Given the description of an element on the screen output the (x, y) to click on. 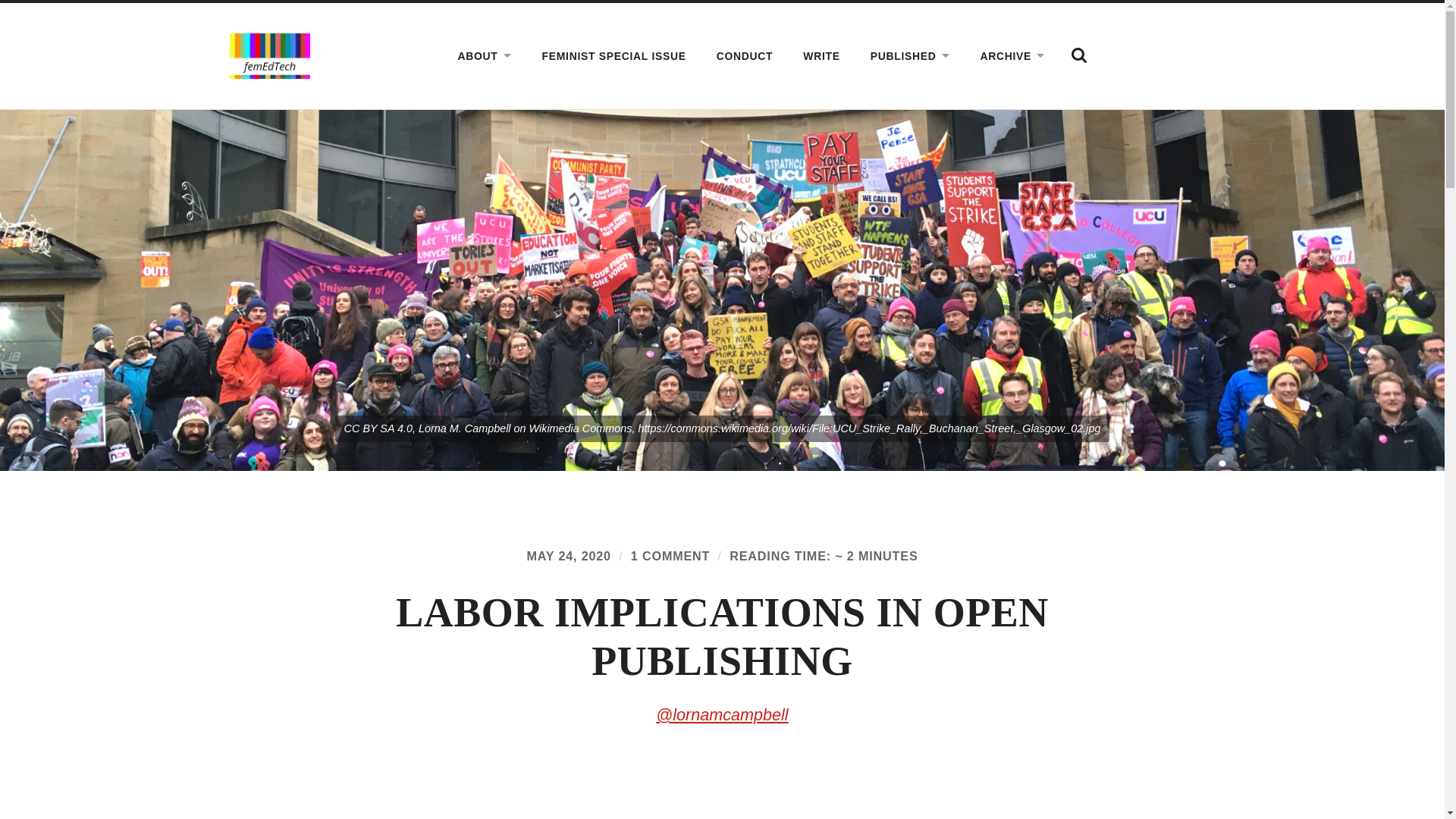
WRITE (821, 56)
1:46 pm (567, 555)
CONDUCT (744, 56)
ARCHIVE (1013, 56)
Show the search field (1079, 55)
ABOUT (484, 56)
PUBLISHED (909, 56)
FEMINIST SPECIAL ISSUE (614, 56)
